Given the description of an element on the screen output the (x, y) to click on. 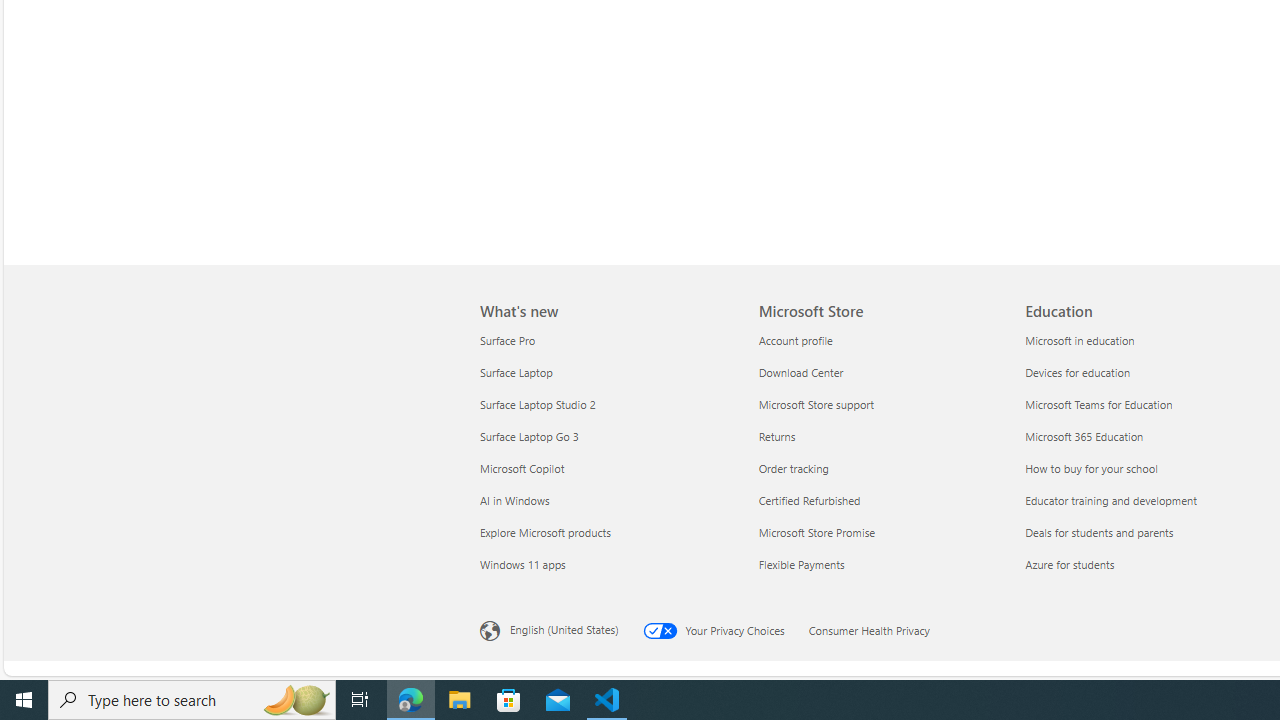
Returns (879, 435)
Deals for students and parents Education (1099, 532)
Order tracking (879, 468)
Microsoft 365 Education (1146, 435)
AI in Windows What's new (515, 499)
Download Center (879, 371)
Microsoft Store support Microsoft Store (815, 403)
Surface Pro (607, 340)
Surface Laptop Go 3 What's new (529, 435)
Surface Laptop What's new (516, 372)
Windows 11 apps (607, 564)
Microsoft Store Promise Microsoft Store (816, 532)
Surface Laptop Studio 2 What's new (538, 403)
Flexible Payments Microsoft Store (800, 563)
Microsoft in education Education (1080, 339)
